Given the description of an element on the screen output the (x, y) to click on. 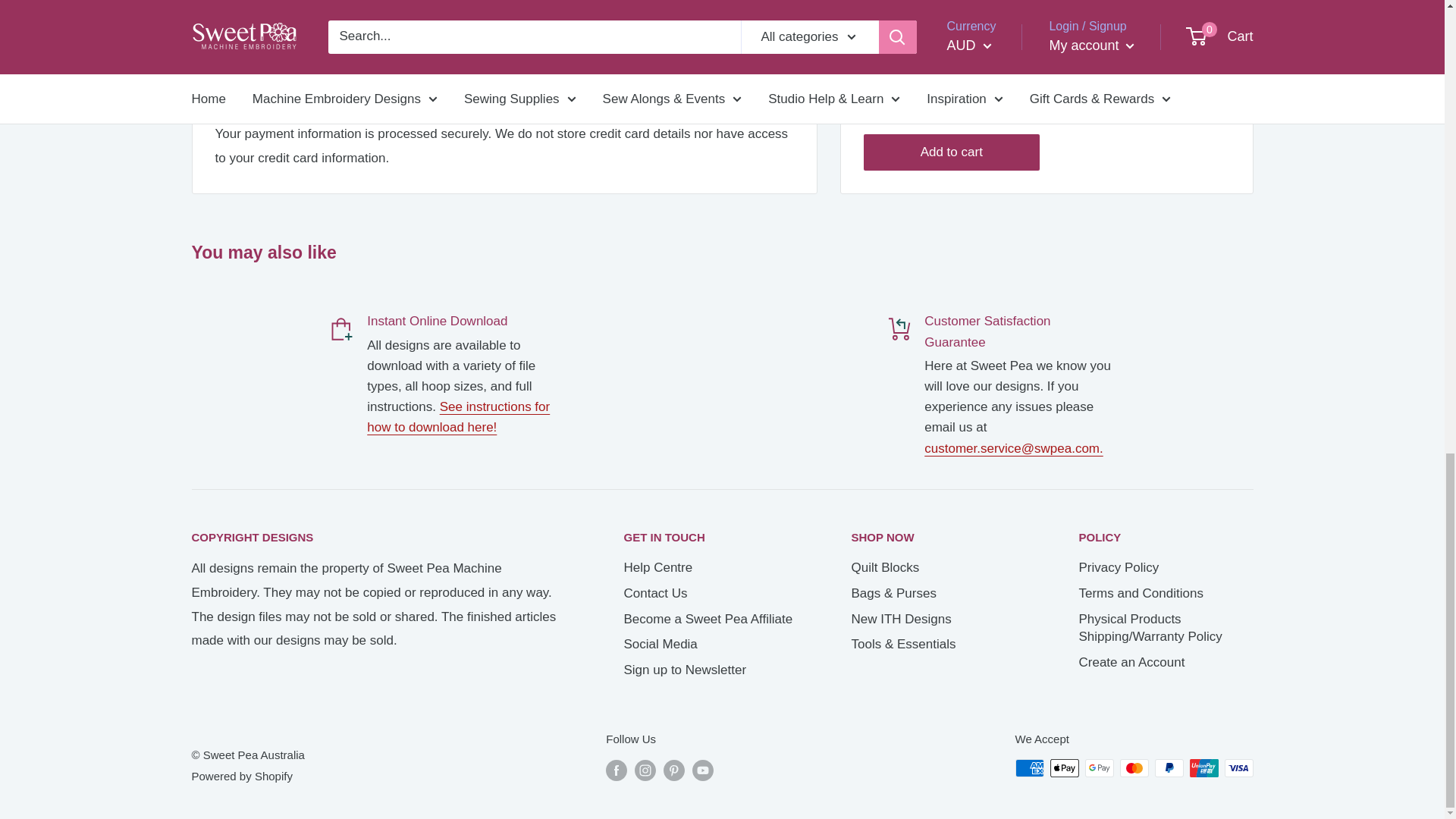
How to Download Designs (458, 416)
